Given the description of an element on the screen output the (x, y) to click on. 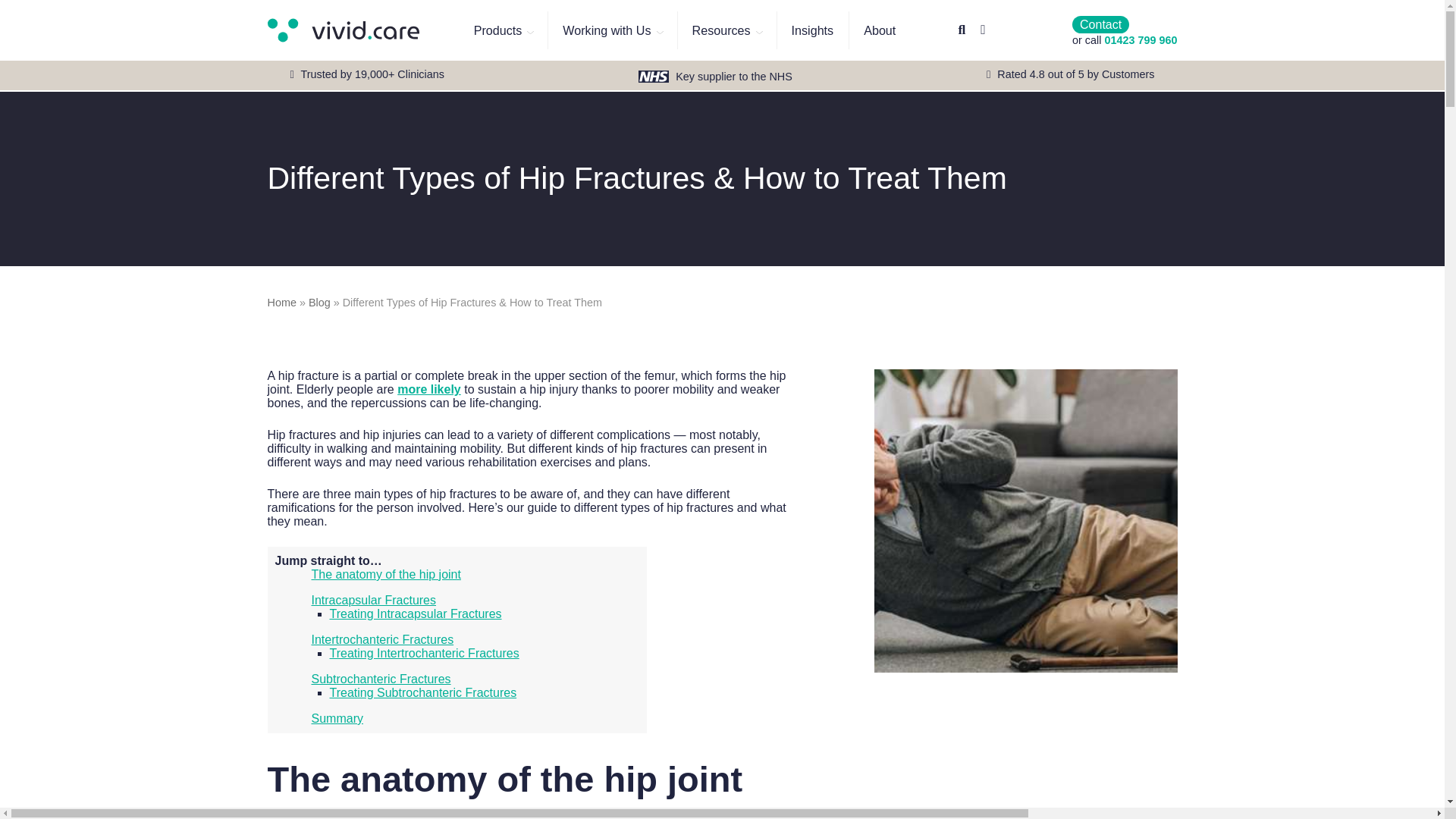
Products (503, 30)
Resources (726, 30)
Working with Us (612, 30)
